Given the description of an element on the screen output the (x, y) to click on. 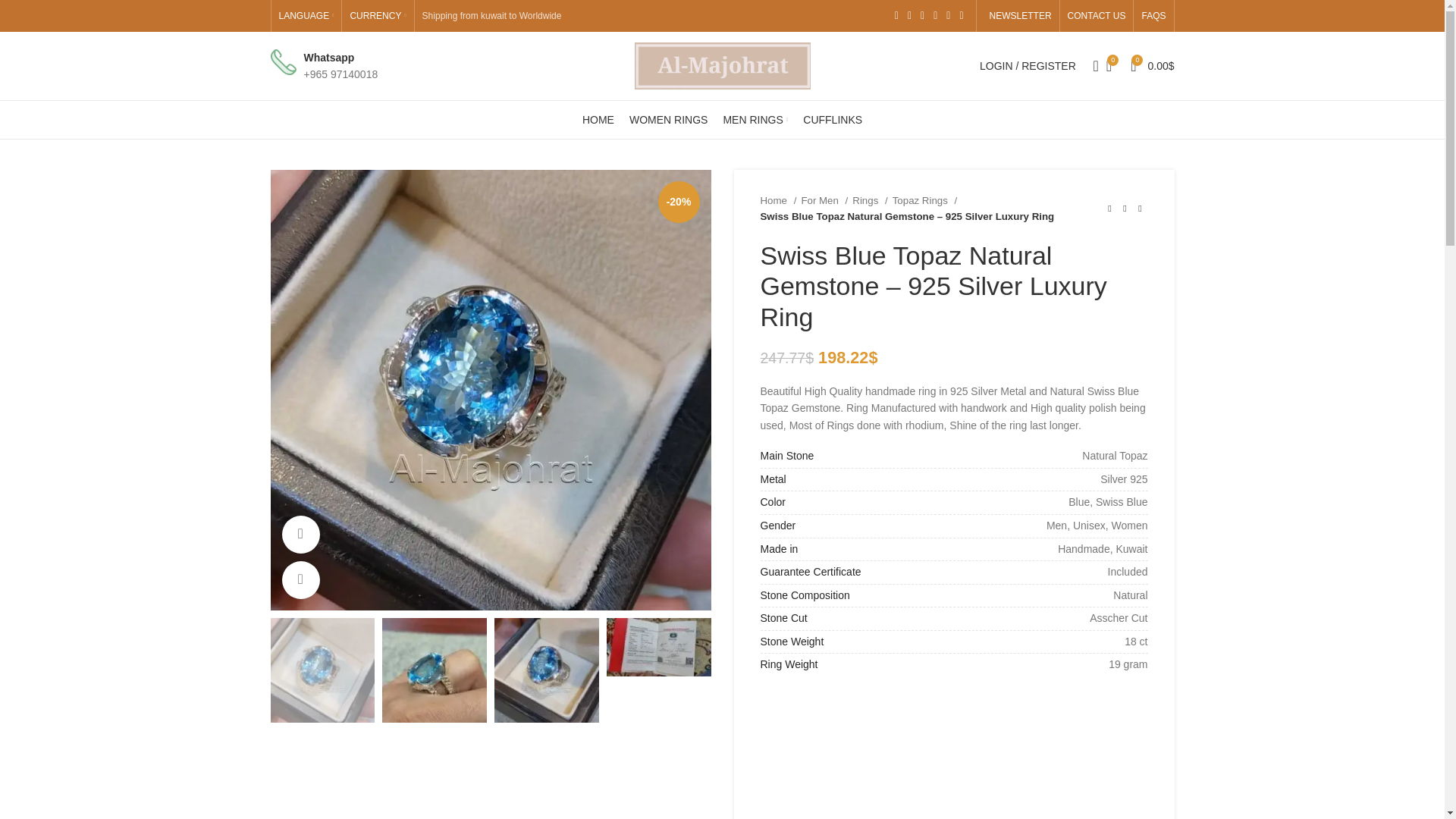
technology (282, 62)
CURRENCY (377, 15)
HOME (598, 119)
CONTACT US (1096, 15)
NEWSLETTER (1017, 15)
My account (1027, 65)
MEN RINGS (754, 119)
LANGUAGE (306, 15)
Shopping cart (1151, 65)
WOMEN RINGS (667, 119)
